Given the description of an element on the screen output the (x, y) to click on. 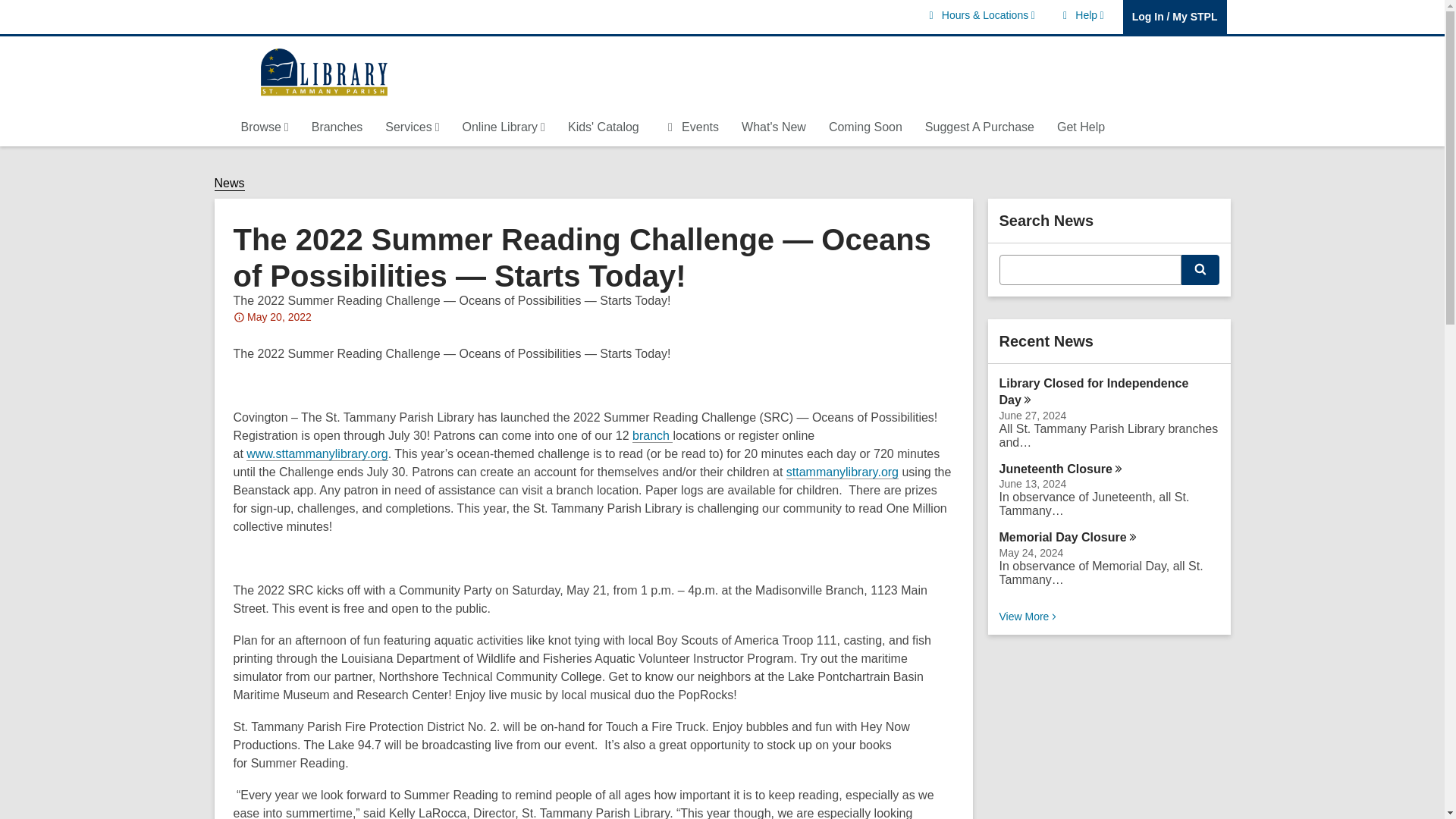
search text (1081, 15)
